Given the description of an element on the screen output the (x, y) to click on. 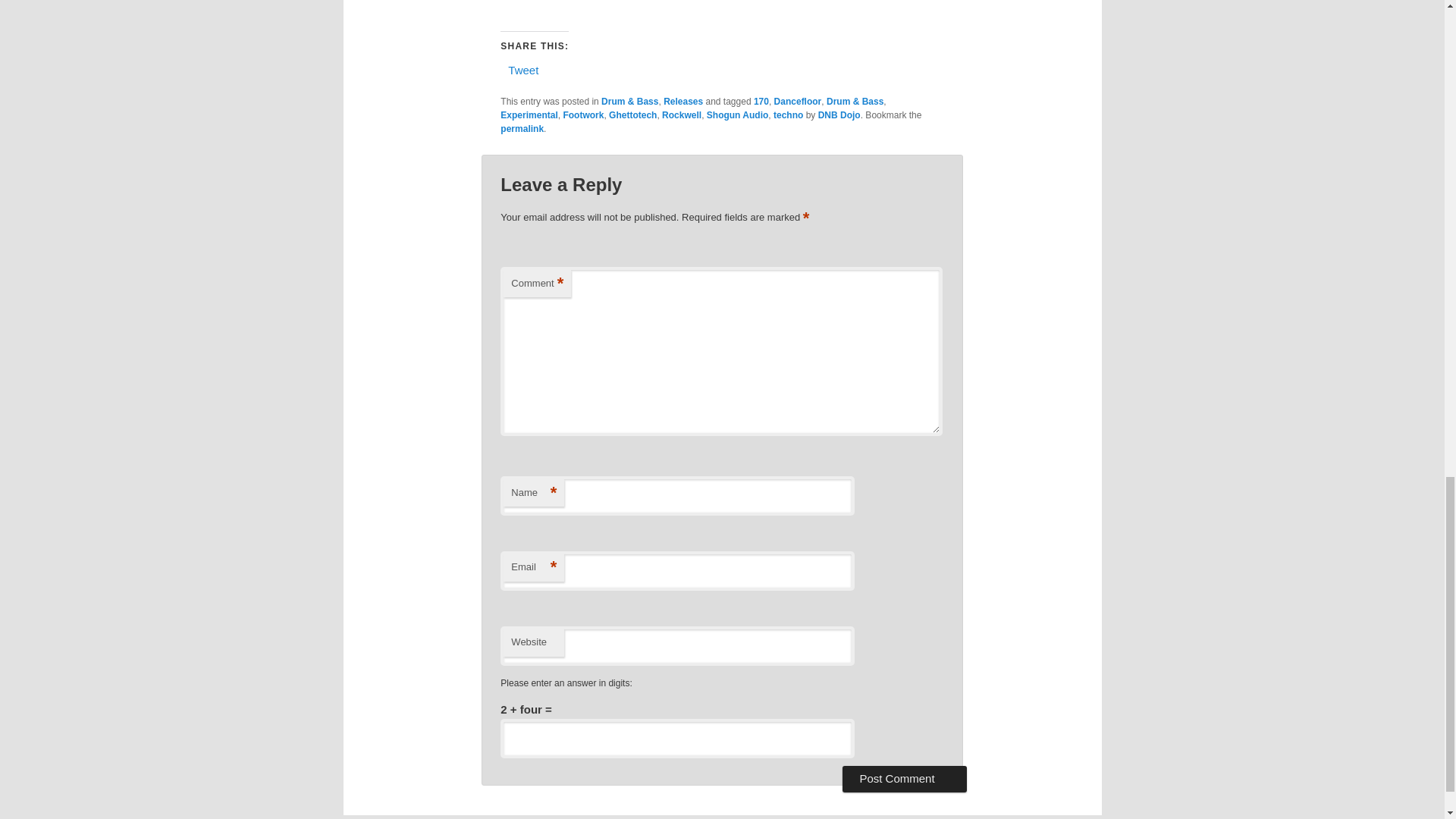
170 (761, 101)
Releases (683, 101)
Tweet (523, 69)
Rockwell (681, 114)
permalink (521, 128)
techno (788, 114)
Ghettotech (632, 114)
Post Comment (904, 778)
Shogun Audio (737, 114)
Post Comment (904, 778)
